Given the description of an element on the screen output the (x, y) to click on. 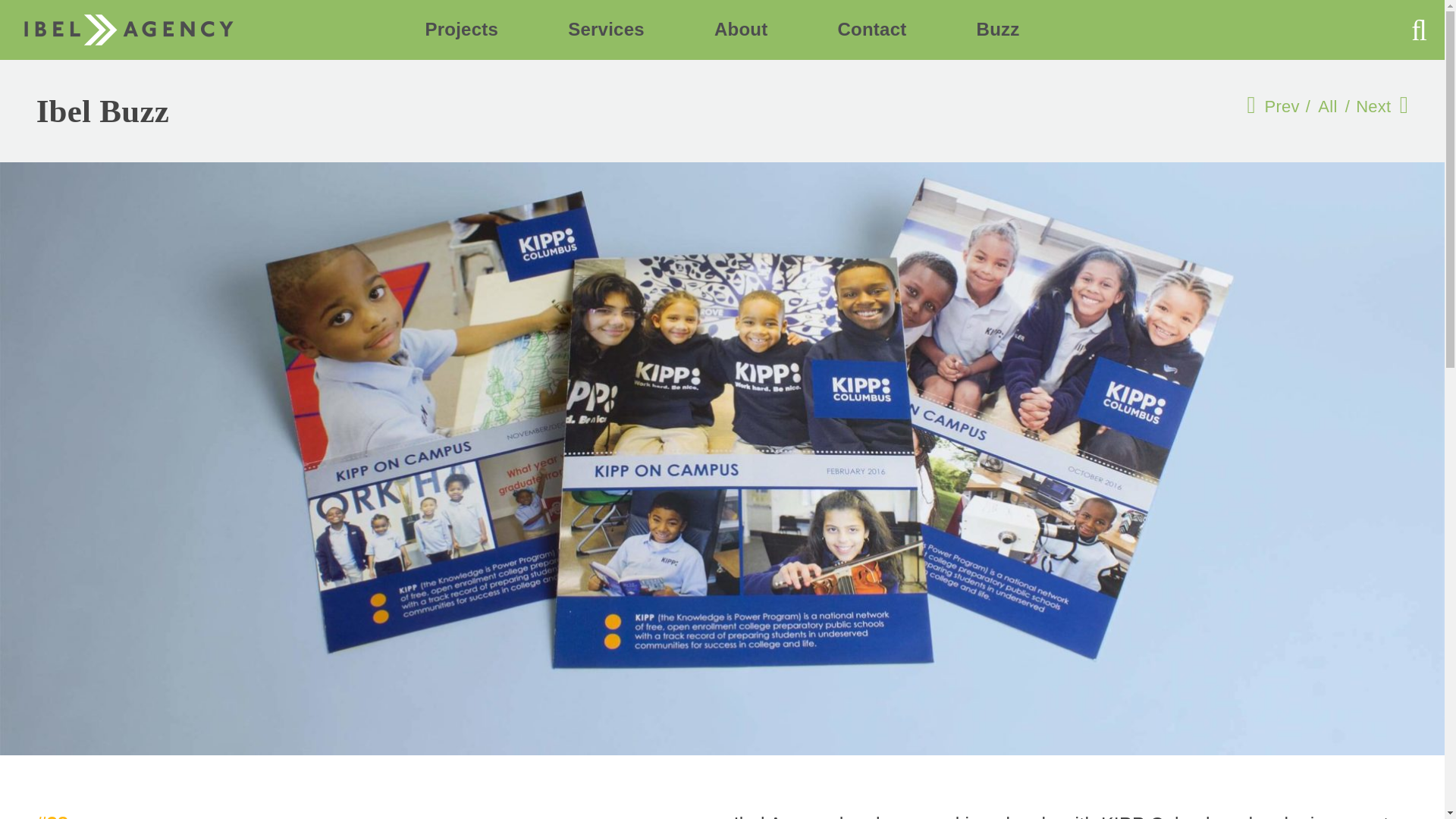
Contact (871, 28)
Buzz (998, 28)
Services (605, 28)
All (1326, 106)
Projects (461, 28)
About (741, 28)
